Given the description of an element on the screen output the (x, y) to click on. 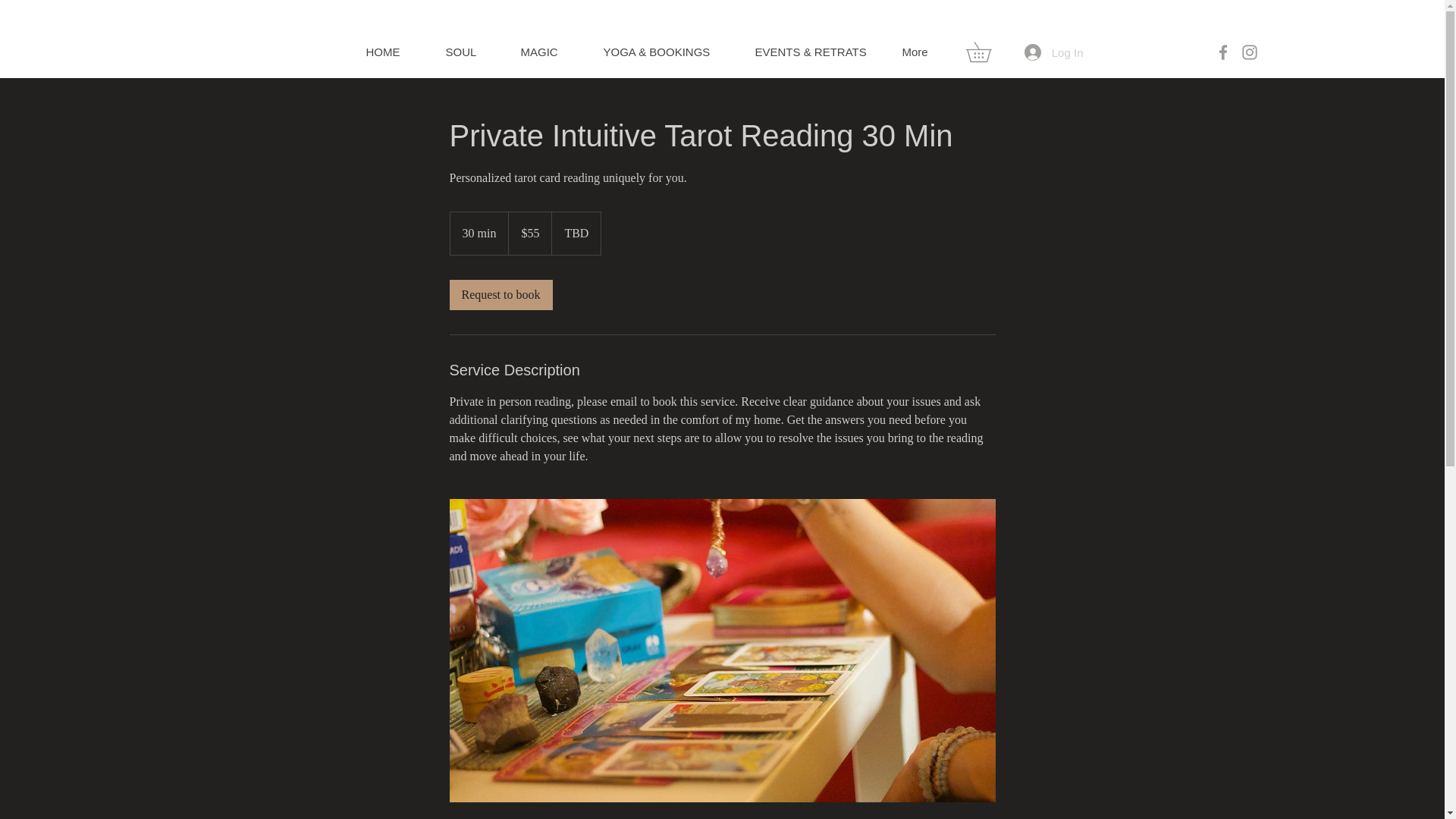
HOME (394, 51)
Request to book (499, 295)
MAGIC (549, 51)
SOUL (470, 51)
Log In (1053, 52)
